Given the description of an element on the screen output the (x, y) to click on. 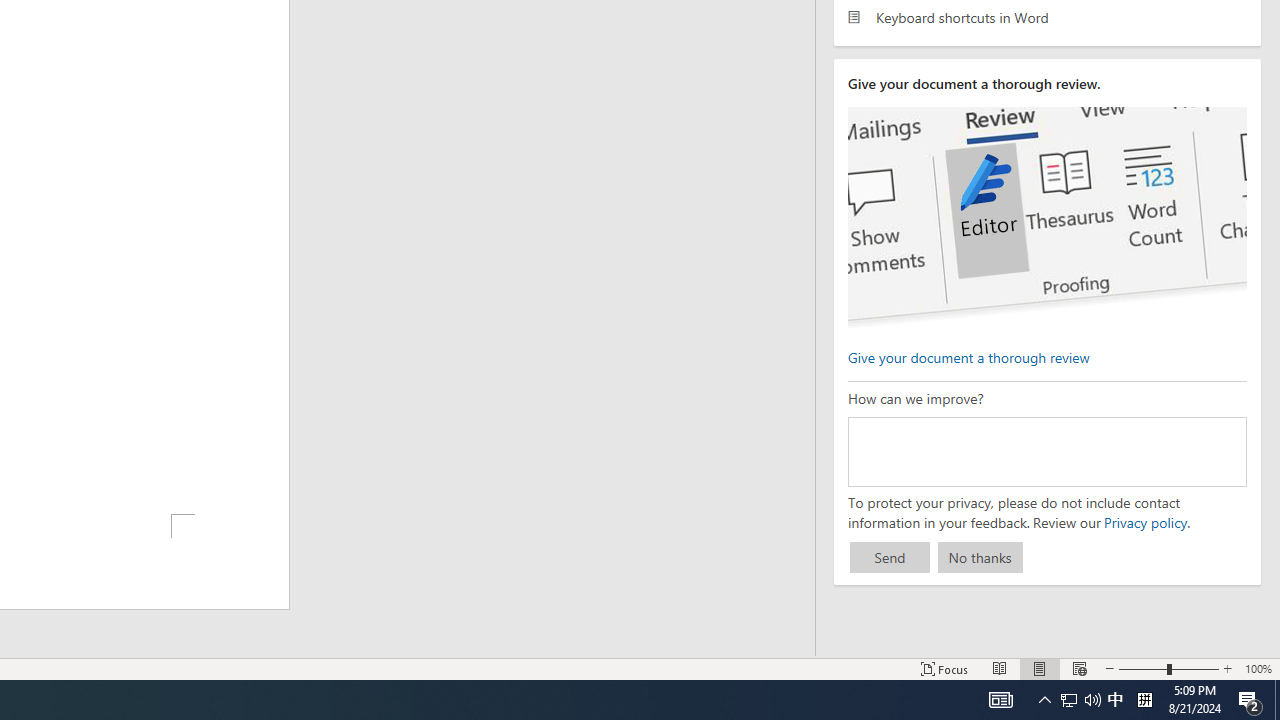
Send (889, 557)
How can we improve? (1046, 451)
Zoom 100% (1258, 668)
Privacy policy (1144, 522)
editor ui screenshot (1046, 218)
Zoom (1168, 668)
Keyboard shortcuts in Word (1047, 16)
Give your document a thorough review (968, 356)
No thanks (980, 557)
